Given the description of an element on the screen output the (x, y) to click on. 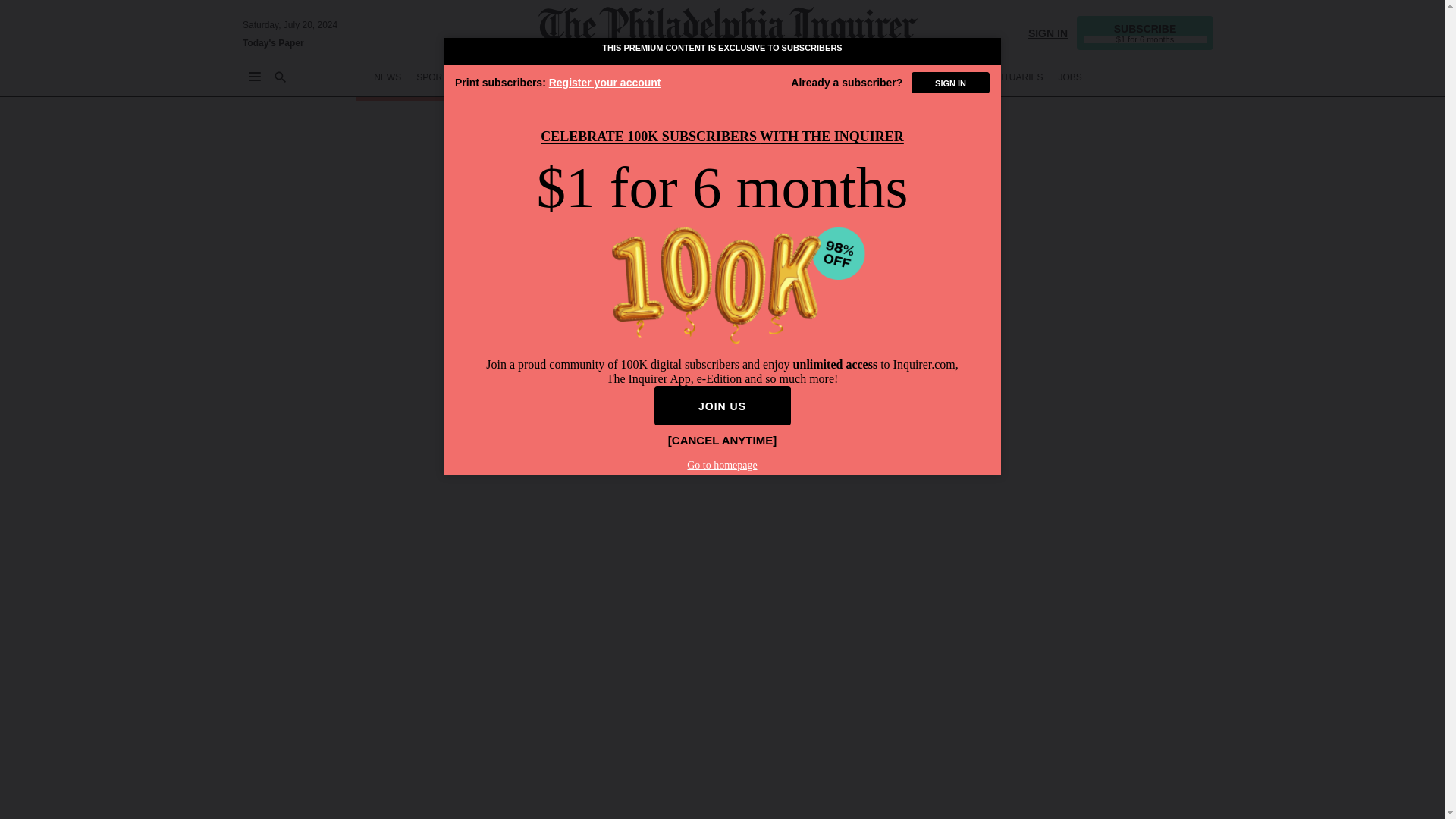
3rd party ad content (985, 23)
